Given the description of an element on the screen output the (x, y) to click on. 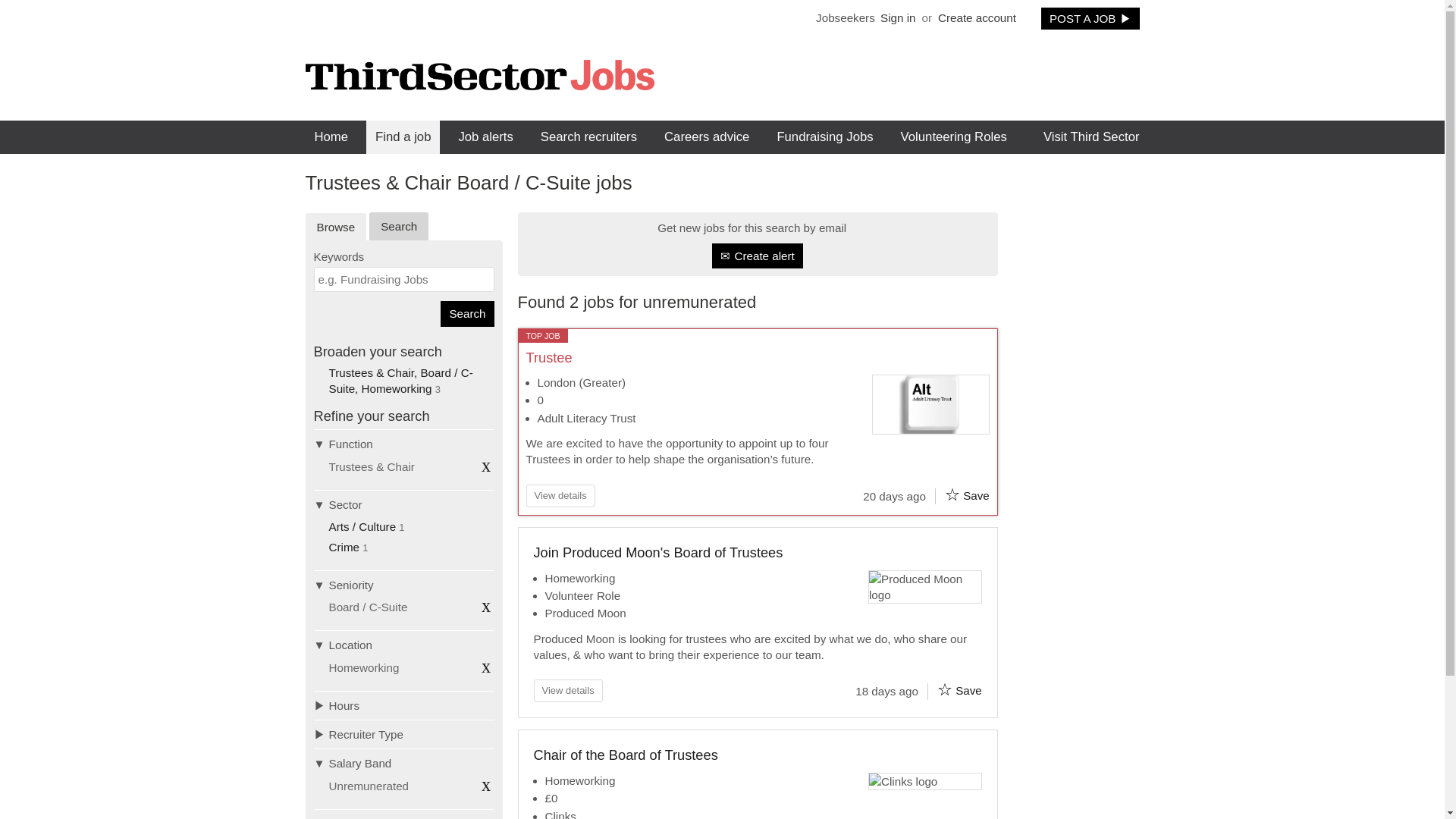
Home (330, 136)
Hours (404, 705)
Third Sector Jobs (478, 74)
Add to shortlist (944, 688)
Add to shortlist (951, 494)
Sector (404, 503)
Find a job (402, 136)
Seniority (404, 584)
Salary Band (404, 762)
Visit Third Sector (1091, 136)
Recruiter Type (404, 733)
Careers advice (706, 136)
Sign in (897, 17)
Browse (335, 226)
Function (404, 443)
